Given the description of an element on the screen output the (x, y) to click on. 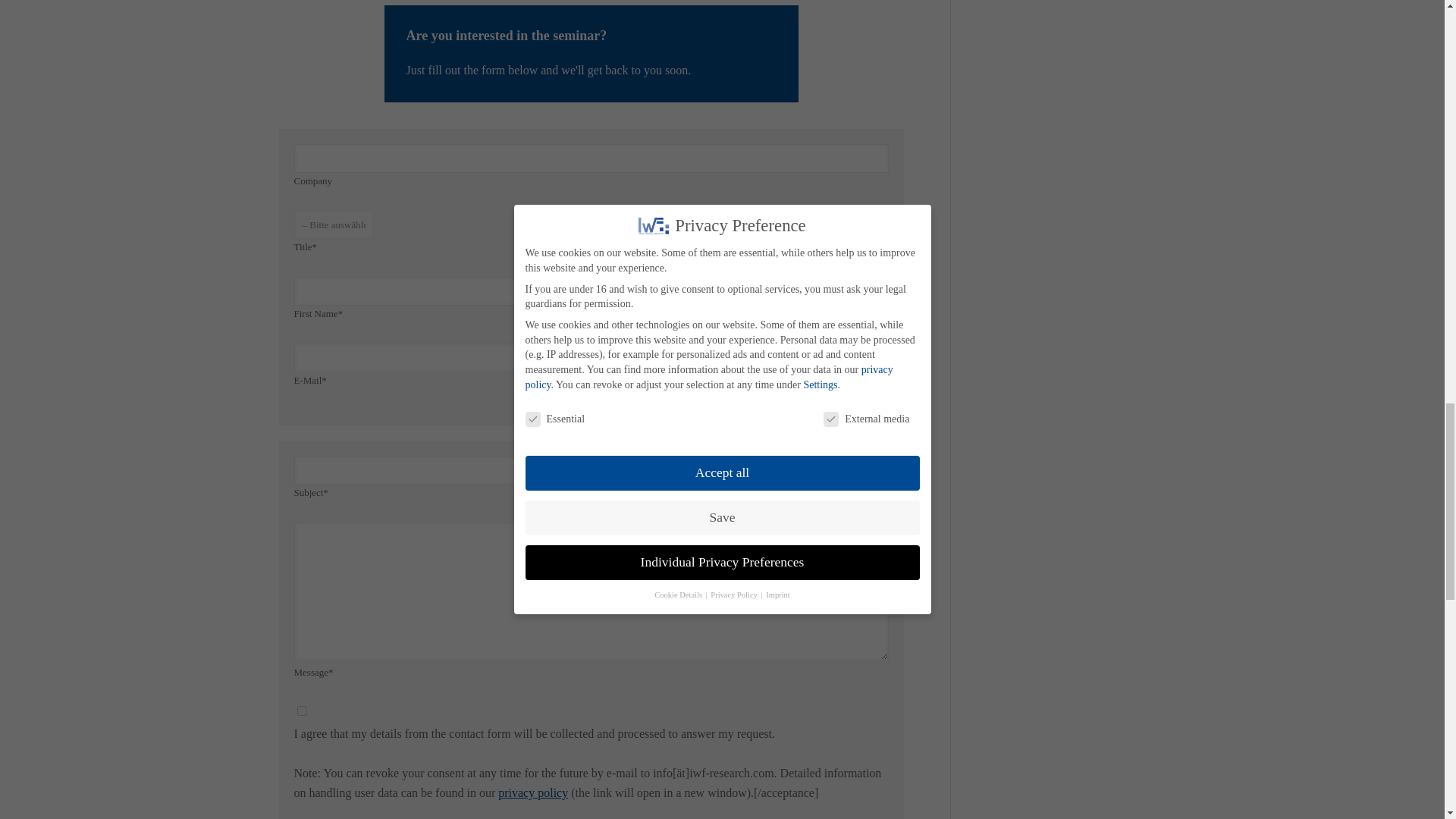
1 (302, 710)
